Given the description of an element on the screen output the (x, y) to click on. 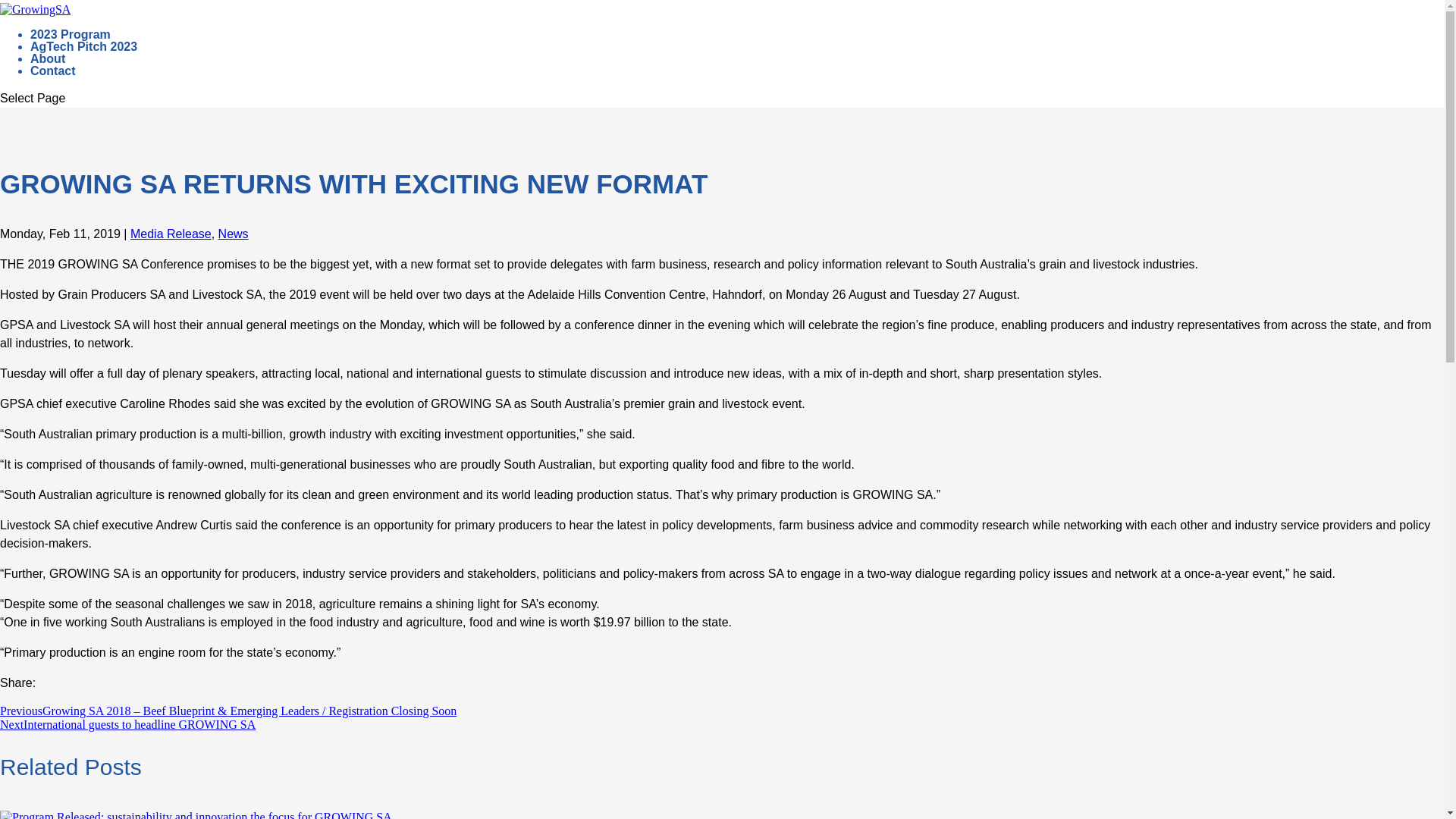
Contact (52, 87)
NextInternational guests to headline GROWING SA (128, 724)
2023 Program (70, 51)
News (233, 233)
Media Release (171, 233)
AgTech Pitch 2023 (83, 63)
